Given the description of an element on the screen output the (x, y) to click on. 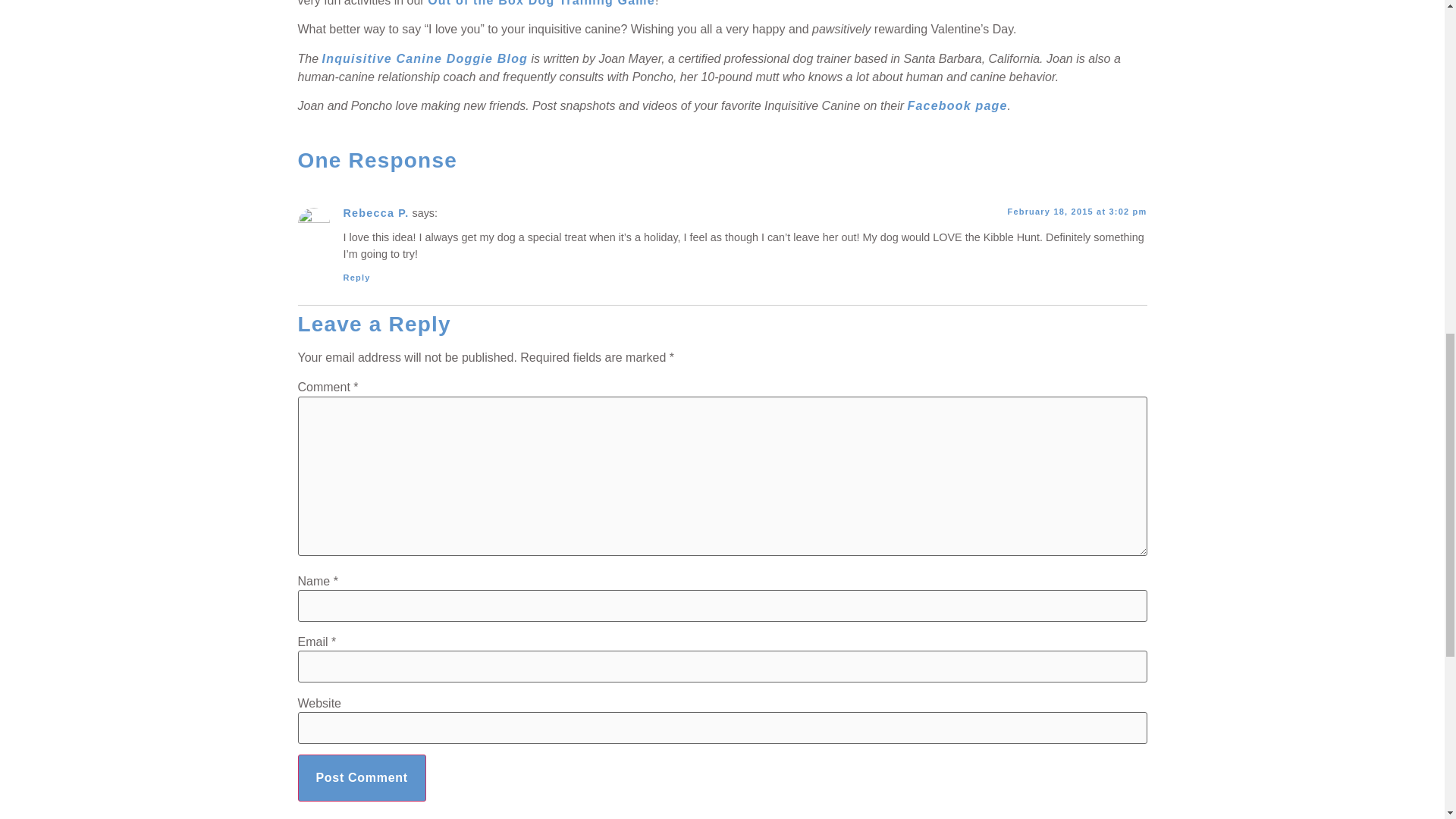
Post Comment (361, 777)
